Given the description of an element on the screen output the (x, y) to click on. 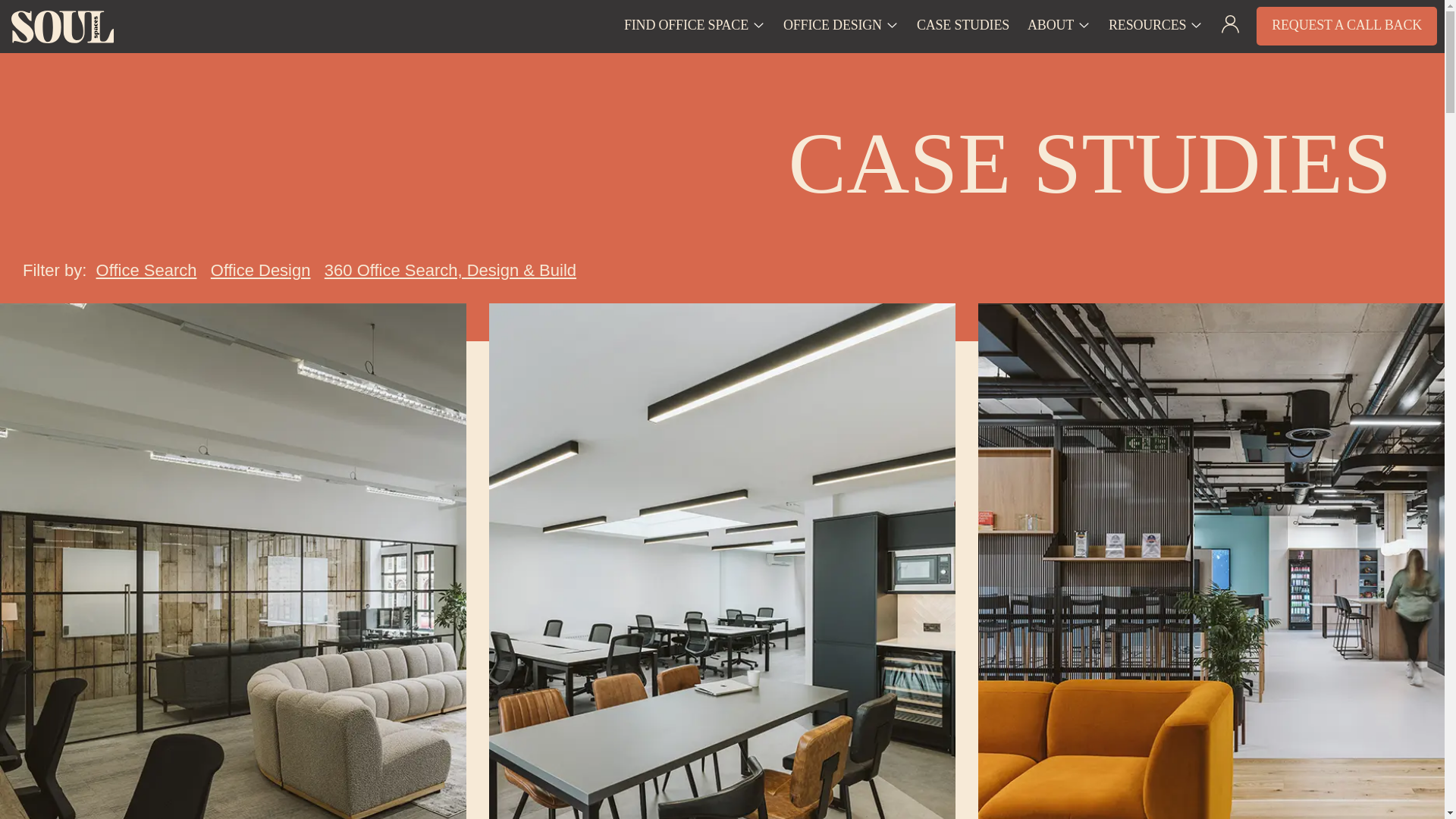
Expand child menu (891, 12)
Expand child menu (758, 12)
OFFICE DESIGN (832, 24)
FIND OFFICE SPACE (686, 24)
